Given the description of an element on the screen output the (x, y) to click on. 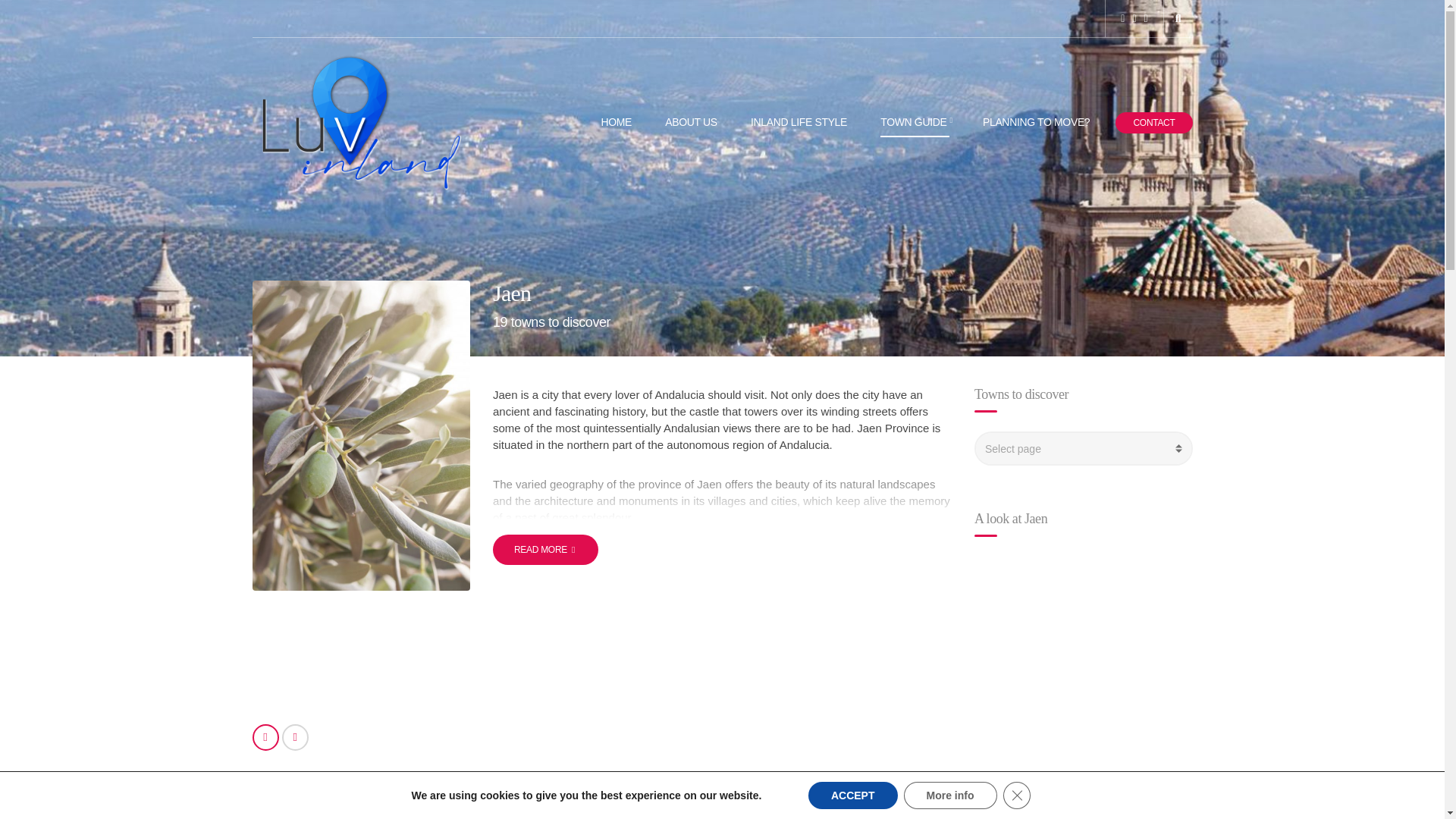
TOWN GUIDE (914, 122)
PLANNING TO MOVE? (1035, 122)
CONTACT (1153, 122)
HOME (615, 122)
ABOUT US (691, 122)
INLAND LIFE STYLE (799, 122)
